Given the description of an element on the screen output the (x, y) to click on. 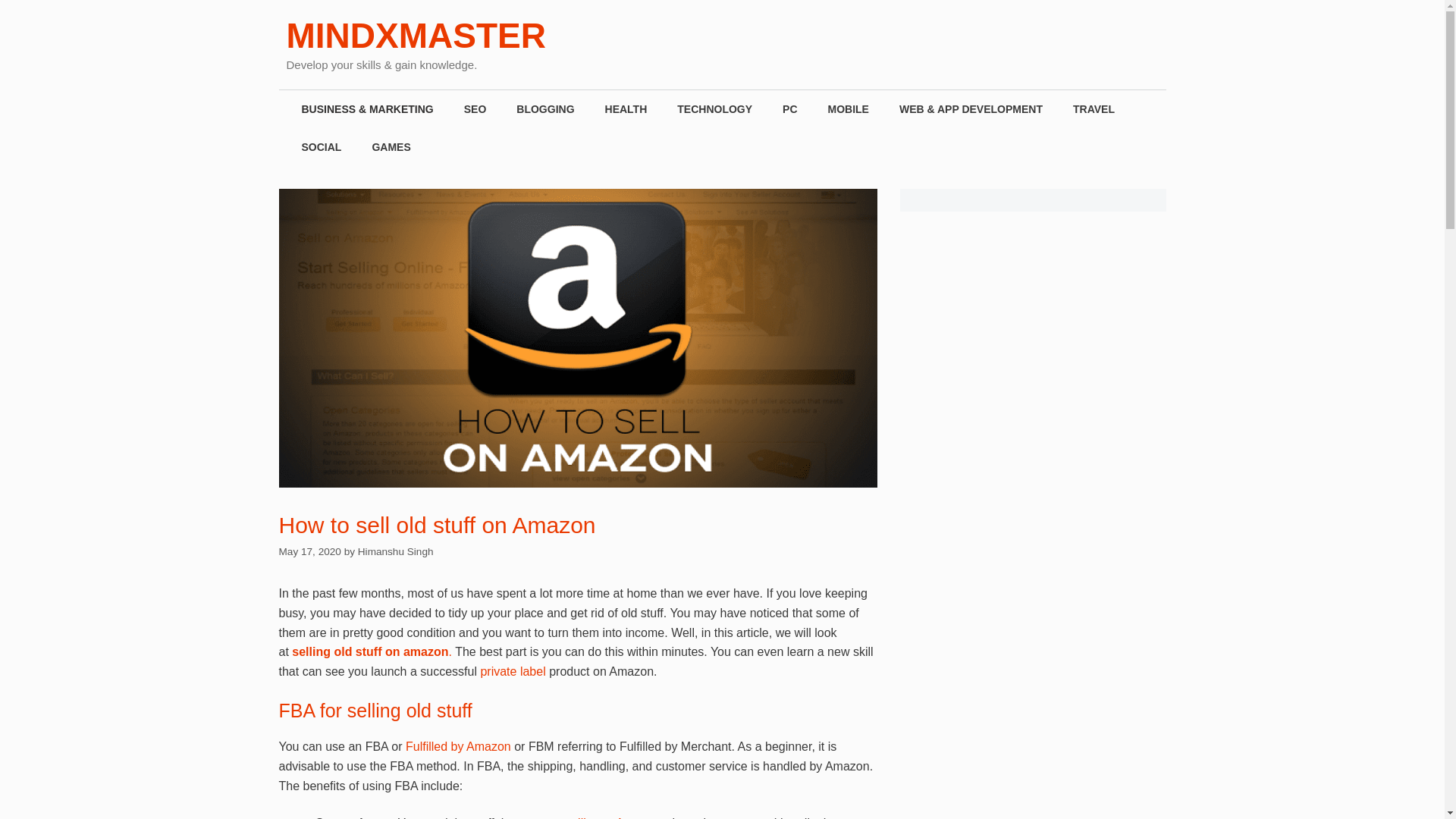
TECHNOLOGY (714, 108)
GAMES (390, 146)
SOCIAL (321, 146)
MINDXMASTER (416, 35)
View all posts by Himanshu Singh (395, 551)
selling to Amazon (611, 817)
TRAVEL (1093, 108)
Fulfilled by Amazon (458, 746)
HEALTH (625, 108)
private label (512, 671)
